Given the description of an element on the screen output the (x, y) to click on. 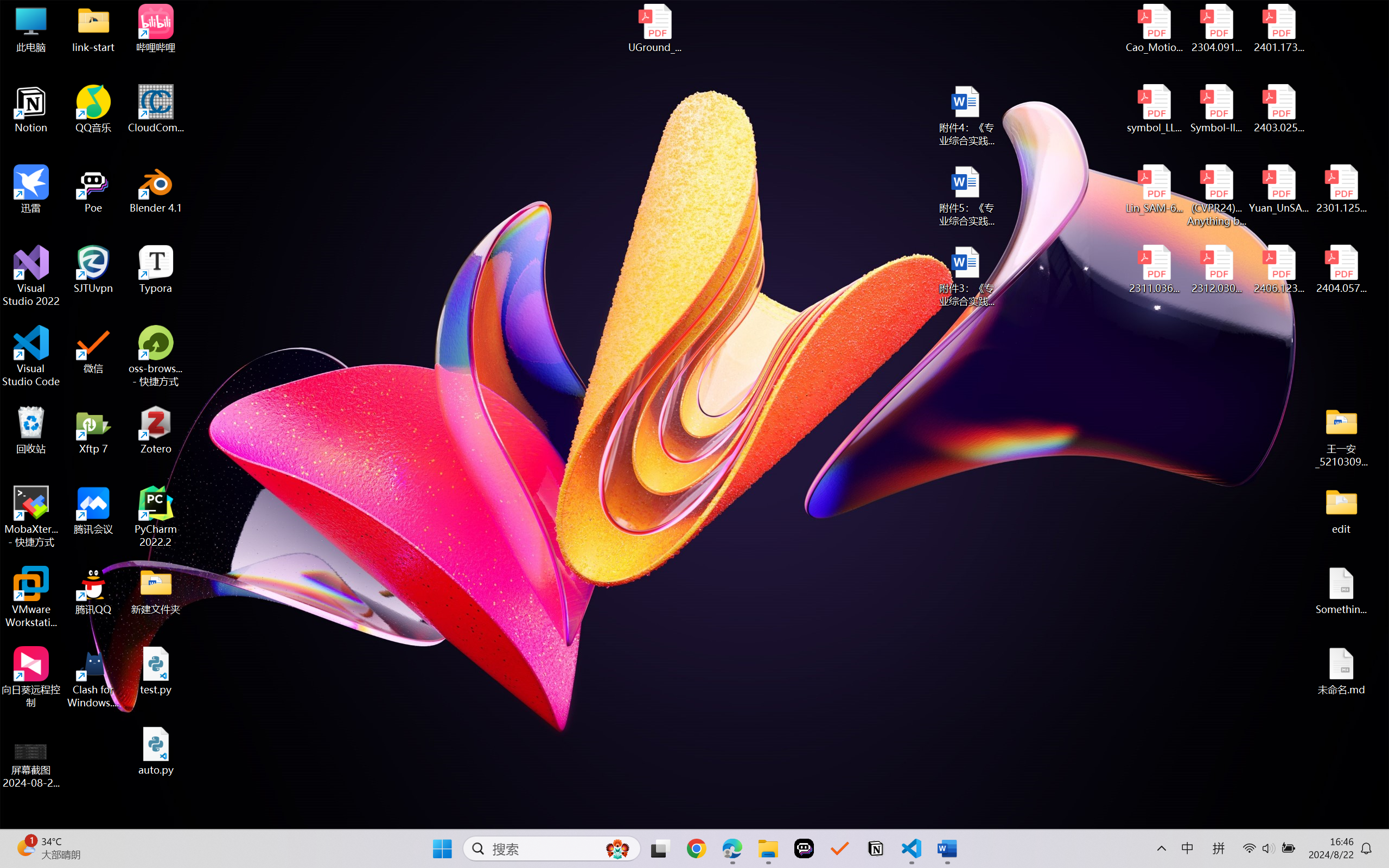
Typora (156, 269)
test.py (156, 670)
(CVPR24)Matching Anything by Segmenting Anything.pdf (1216, 195)
Visual Studio Code (31, 355)
